Given the description of an element on the screen output the (x, y) to click on. 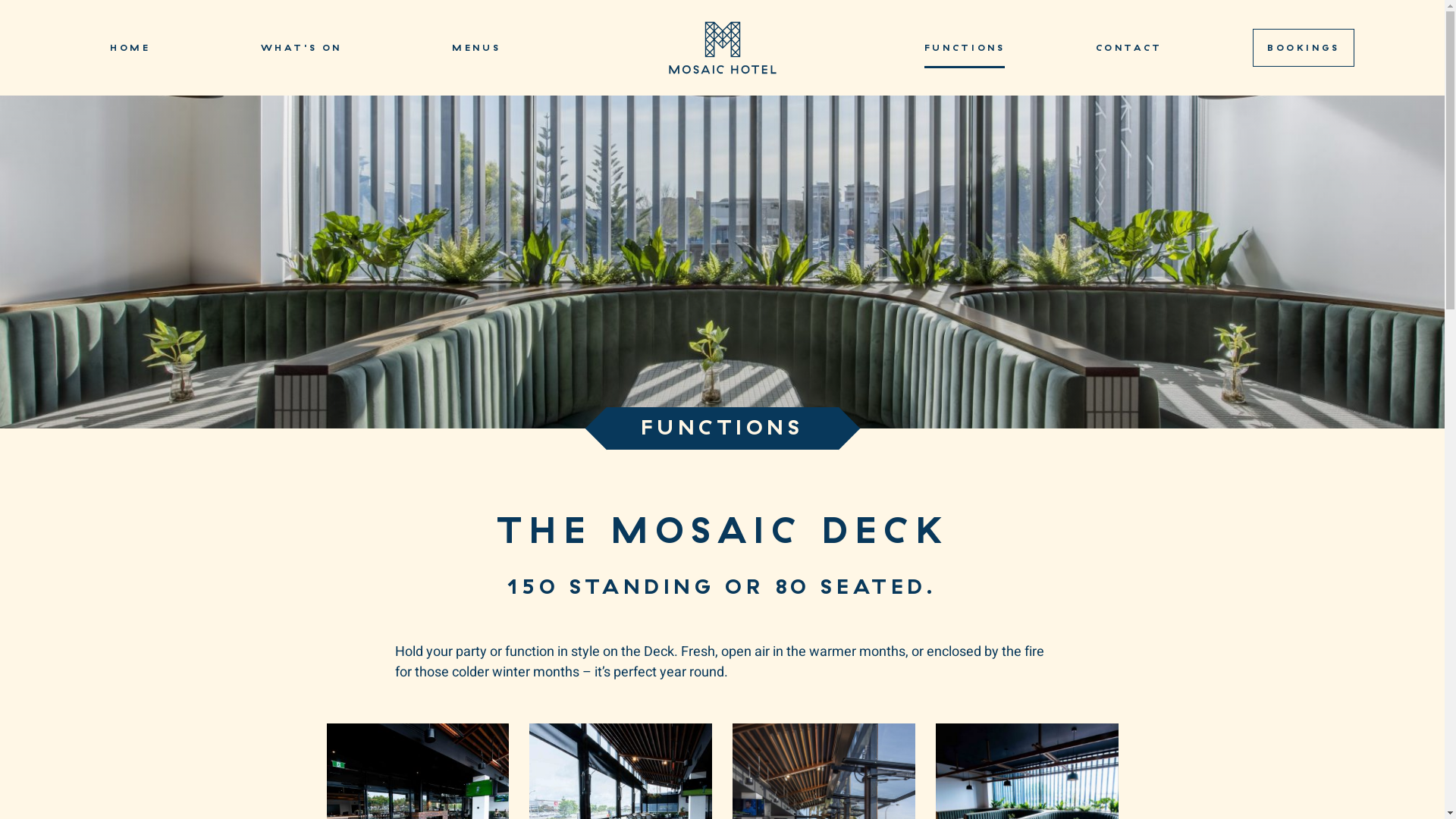
WHAT'S ON Element type: text (301, 47)
HOME Element type: text (129, 47)
MENUS Element type: text (475, 47)
BOOKINGS Element type: text (1303, 47)
FUNCTIONS Element type: text (964, 47)
CONTACT Element type: text (1128, 47)
